Given the description of an element on the screen output the (x, y) to click on. 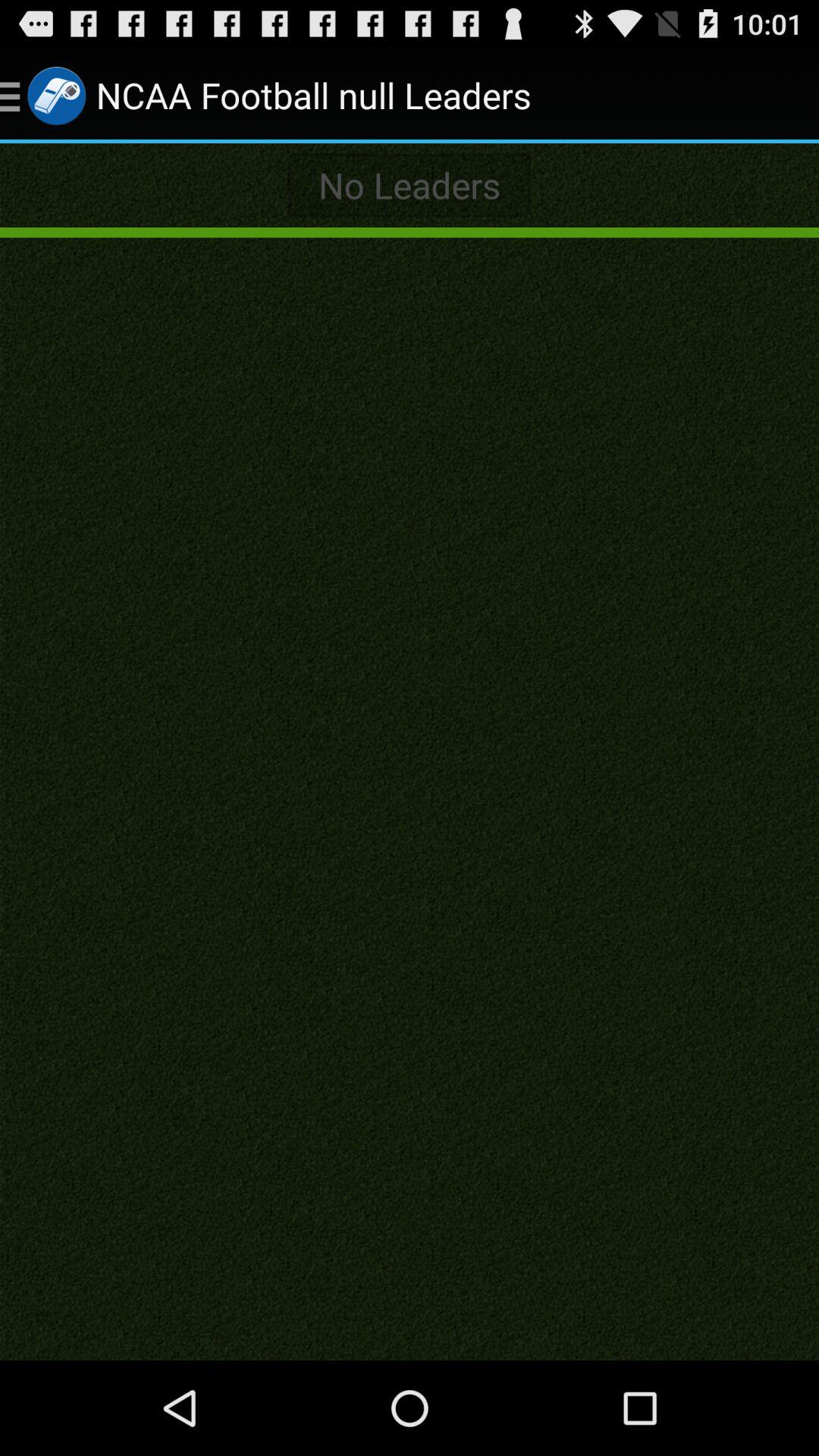
flip to the no leaders (409, 185)
